Given the description of an element on the screen output the (x, y) to click on. 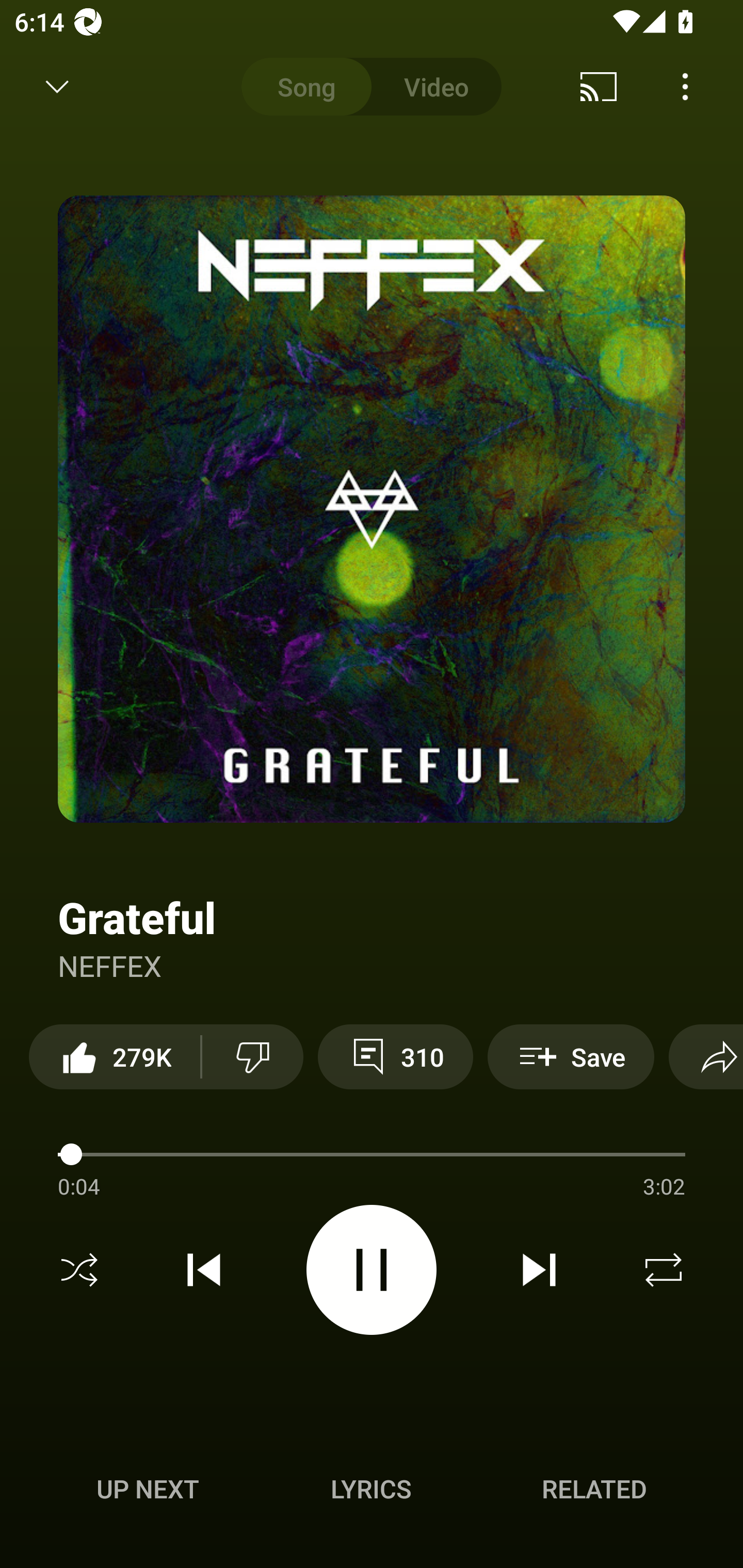
Minimize (57, 86)
Cast. Disconnected (598, 86)
Menu (684, 86)
Dislike (252, 1056)
310 View 310 comments (395, 1056)
Save Save to playlist (570, 1056)
Share (705, 1056)
Pause video (371, 1269)
Shuffle off (79, 1269)
Previous track (203, 1269)
Next track (538, 1269)
Repeat off (663, 1269)
Up next UP NEXT Lyrics LYRICS Related RELATED (371, 1491)
Lyrics LYRICS (370, 1488)
Related RELATED (594, 1488)
